Given the description of an element on the screen output the (x, y) to click on. 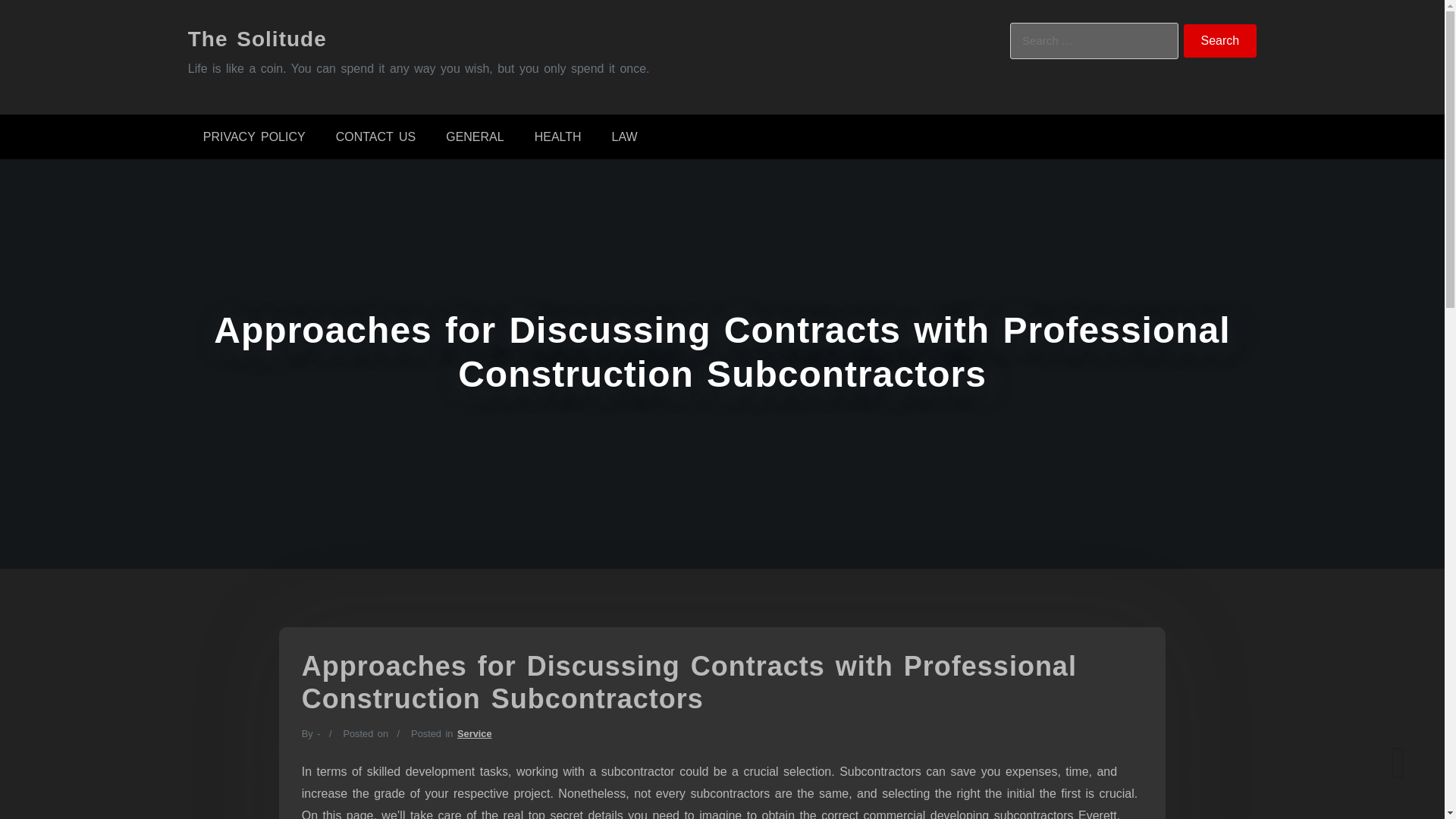
PRIVACY POLICY (253, 136)
Search (1220, 40)
The Solitude (256, 38)
LAW (624, 136)
HEALTH (557, 136)
Search (1220, 40)
Search (1220, 40)
Service (474, 733)
CONTACT US (375, 136)
GENERAL (474, 136)
